Given the description of an element on the screen output the (x, y) to click on. 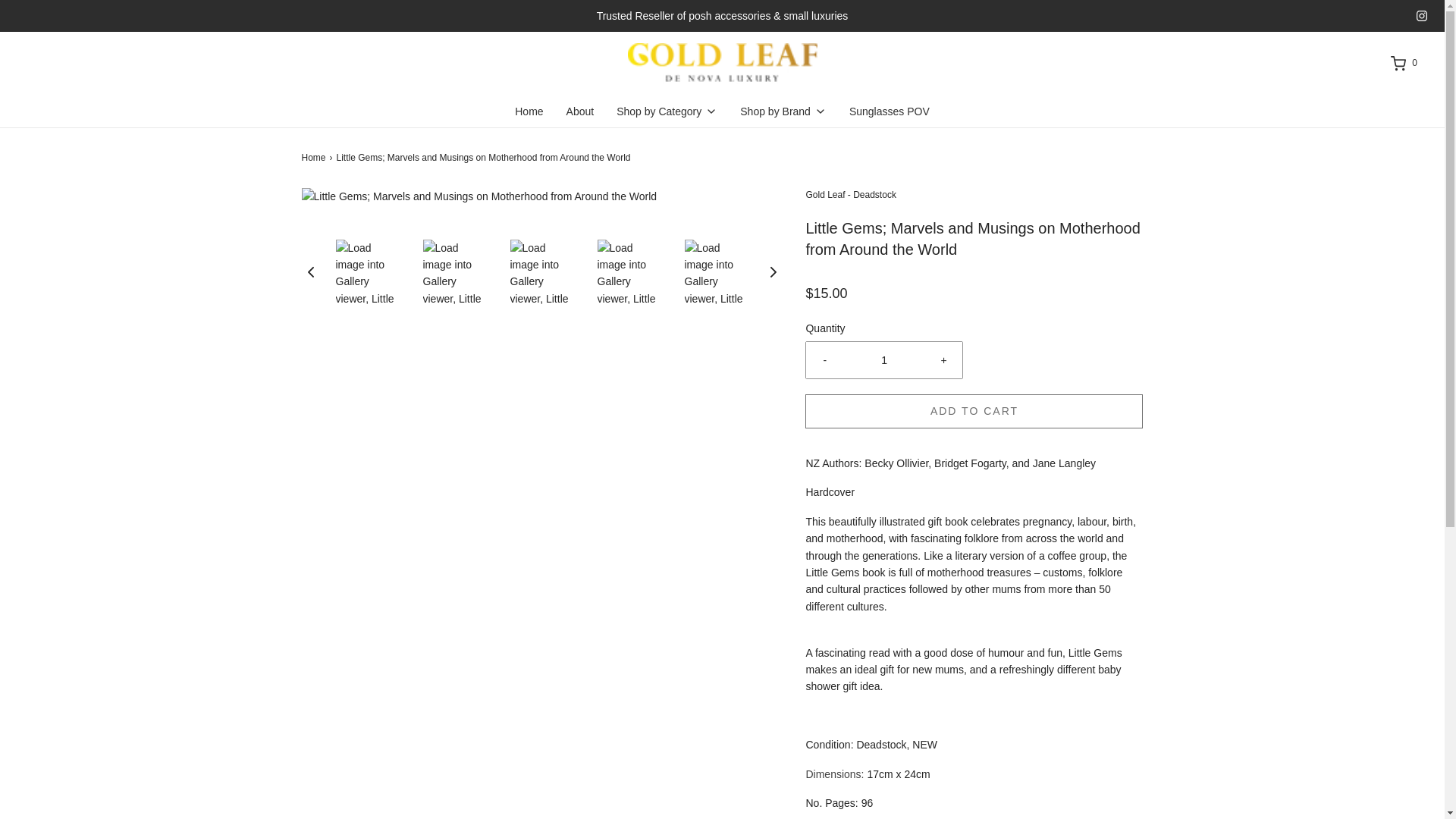
Instagram icon (1421, 15)
Back to the frontpage (315, 157)
Shop by Category (666, 111)
1 (884, 360)
Instagram icon (1421, 15)
Shop by Brand (783, 111)
Cart (1403, 63)
0 (1403, 63)
